Given the description of an element on the screen output the (x, y) to click on. 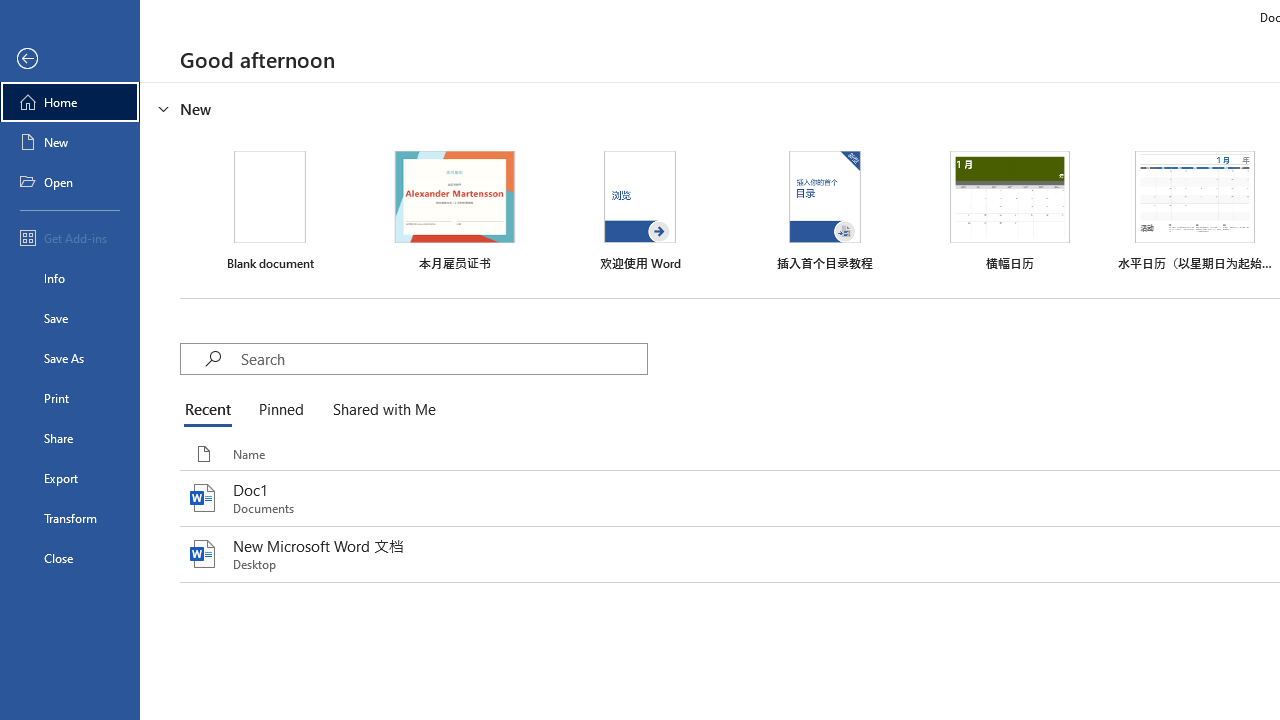
Print (69, 398)
Back (69, 59)
Export (69, 477)
Pinned (280, 410)
Shared with Me (379, 410)
Blank document (269, 211)
Transform (69, 517)
Recent (212, 410)
New (69, 141)
